Given the description of an element on the screen output the (x, y) to click on. 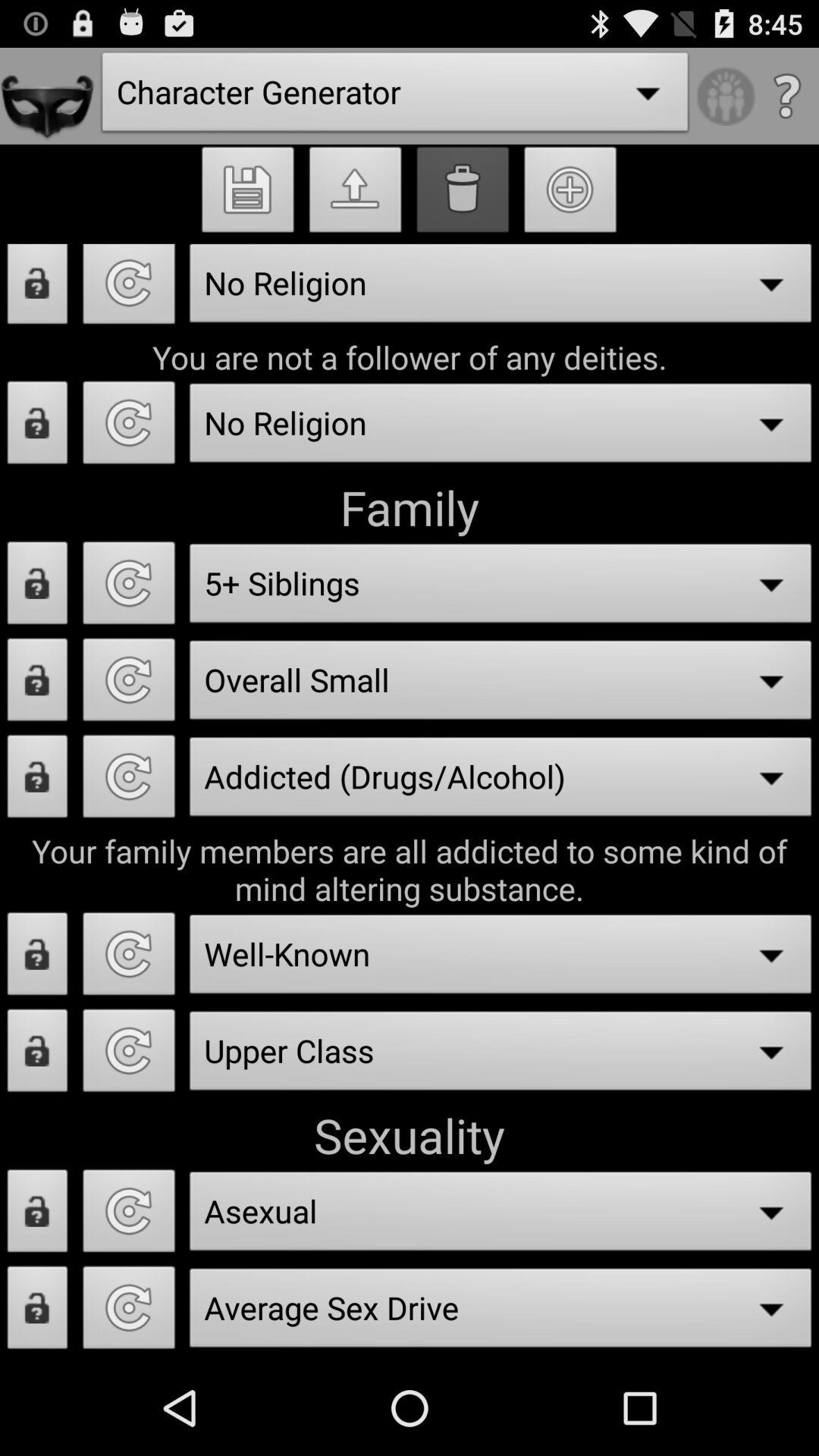
go back (129, 1054)
